Given the description of an element on the screen output the (x, y) to click on. 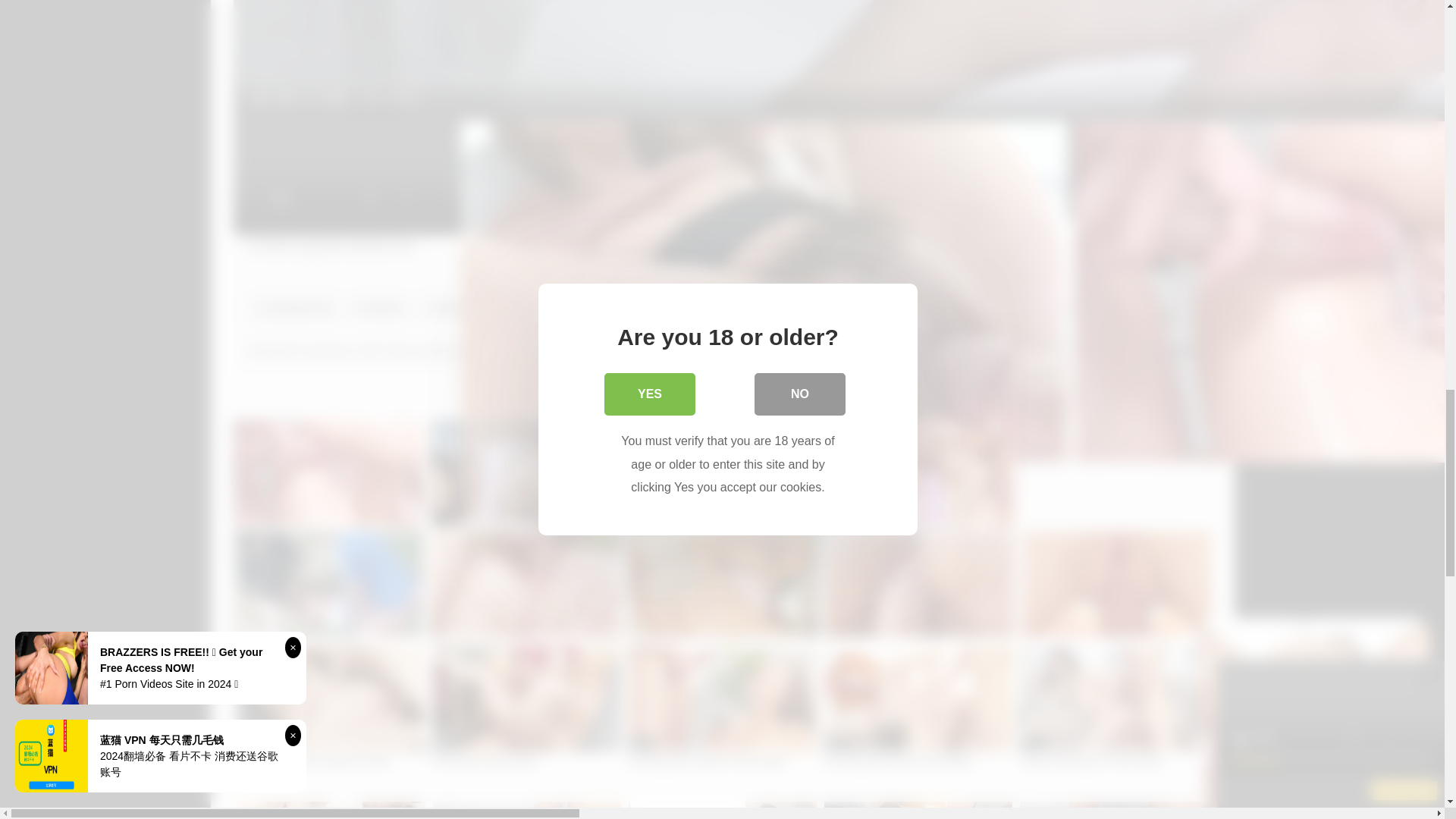
natural tits (1186, 308)
riding (1381, 308)
brunette (581, 308)
piercing (1260, 308)
brunett (514, 308)
casualteensex (294, 308)
European (972, 308)
shaved (1435, 308)
fingering (1047, 308)
pussy (1324, 308)
cunnilingus (809, 308)
doggystyle (893, 308)
Blowjob (448, 308)
Amateur (378, 308)
Close Up (653, 308)
